Given the description of an element on the screen output the (x, y) to click on. 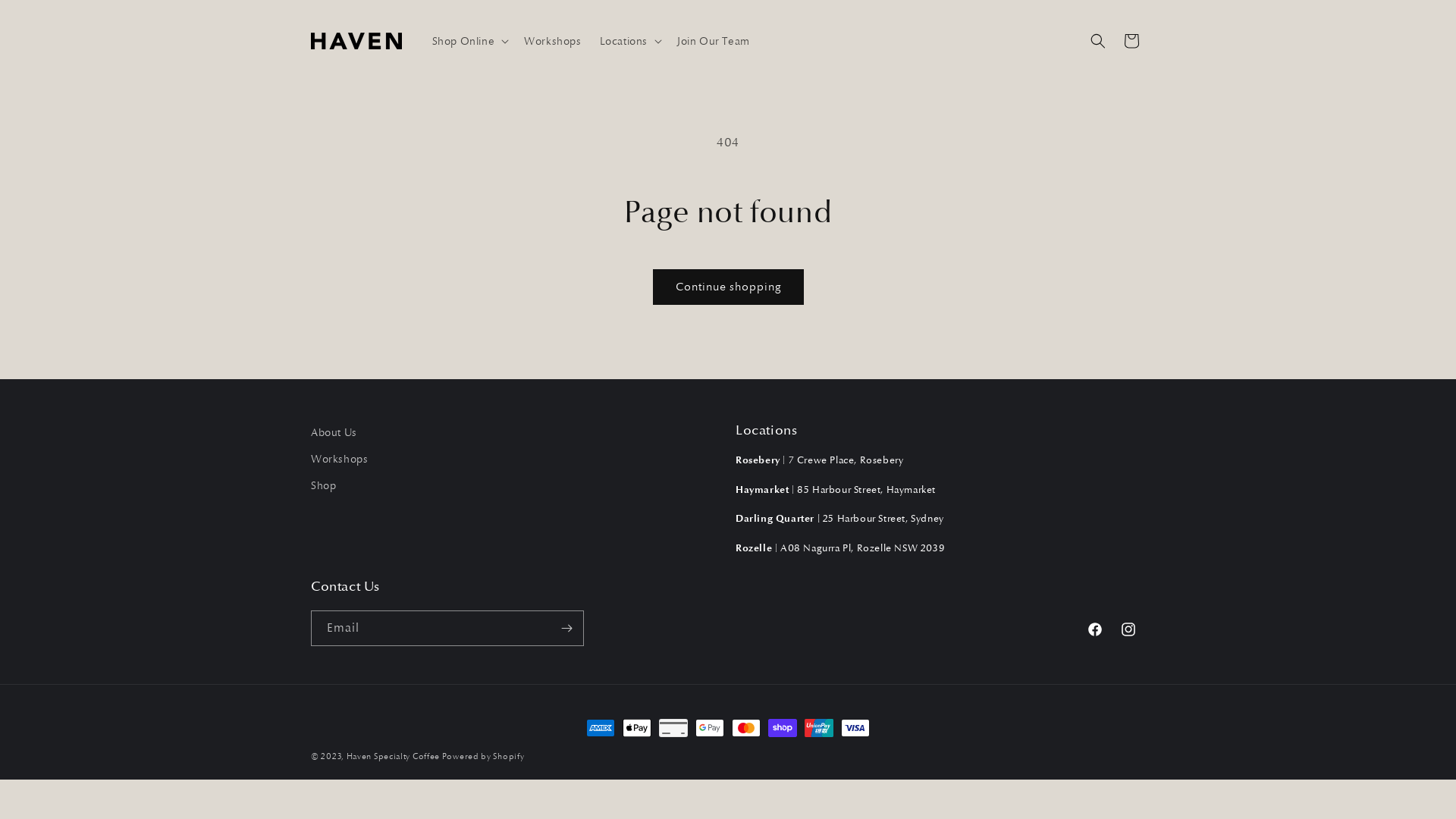
Continue shopping Element type: text (727, 286)
Workshops Element type: text (551, 40)
Shop Element type: text (322, 485)
Instagram Element type: text (1128, 629)
Facebook Element type: text (1094, 629)
About Us Element type: text (333, 434)
Cart Element type: text (1131, 40)
Powered by Shopify Element type: text (483, 755)
Workshops Element type: text (338, 458)
Haven Specialty Coffee Element type: text (394, 755)
Join Our Team Element type: text (713, 40)
